Given the description of an element on the screen output the (x, y) to click on. 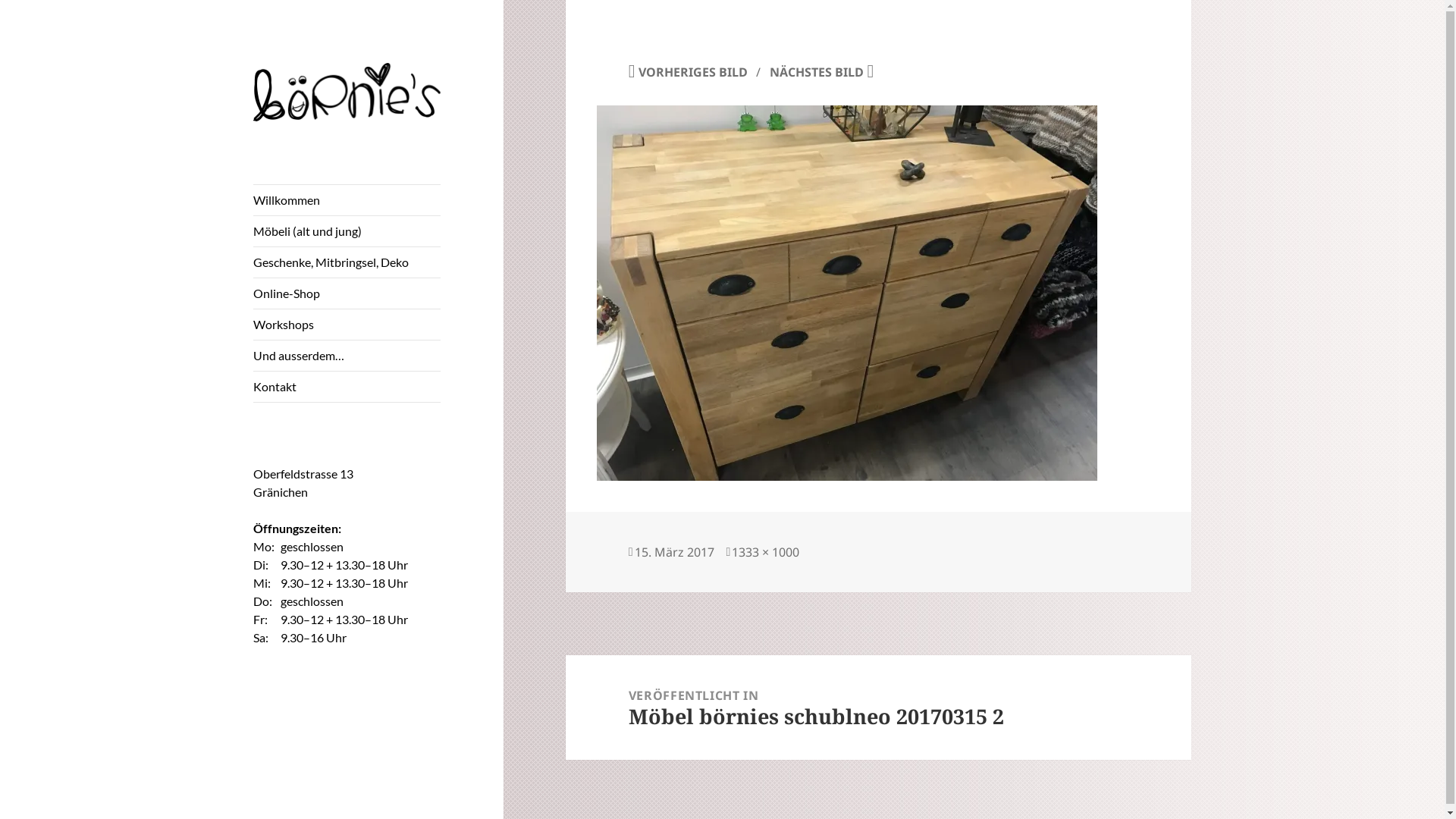
Geschenke, Mitbringsel, Deko Element type: text (347, 262)
Kontakt Element type: text (347, 386)
Online-Shop Element type: text (347, 293)
Willkommen Element type: text (347, 200)
VORHERIGES BILD Element type: text (688, 71)
Workshops Element type: text (347, 324)
